Given the description of an element on the screen output the (x, y) to click on. 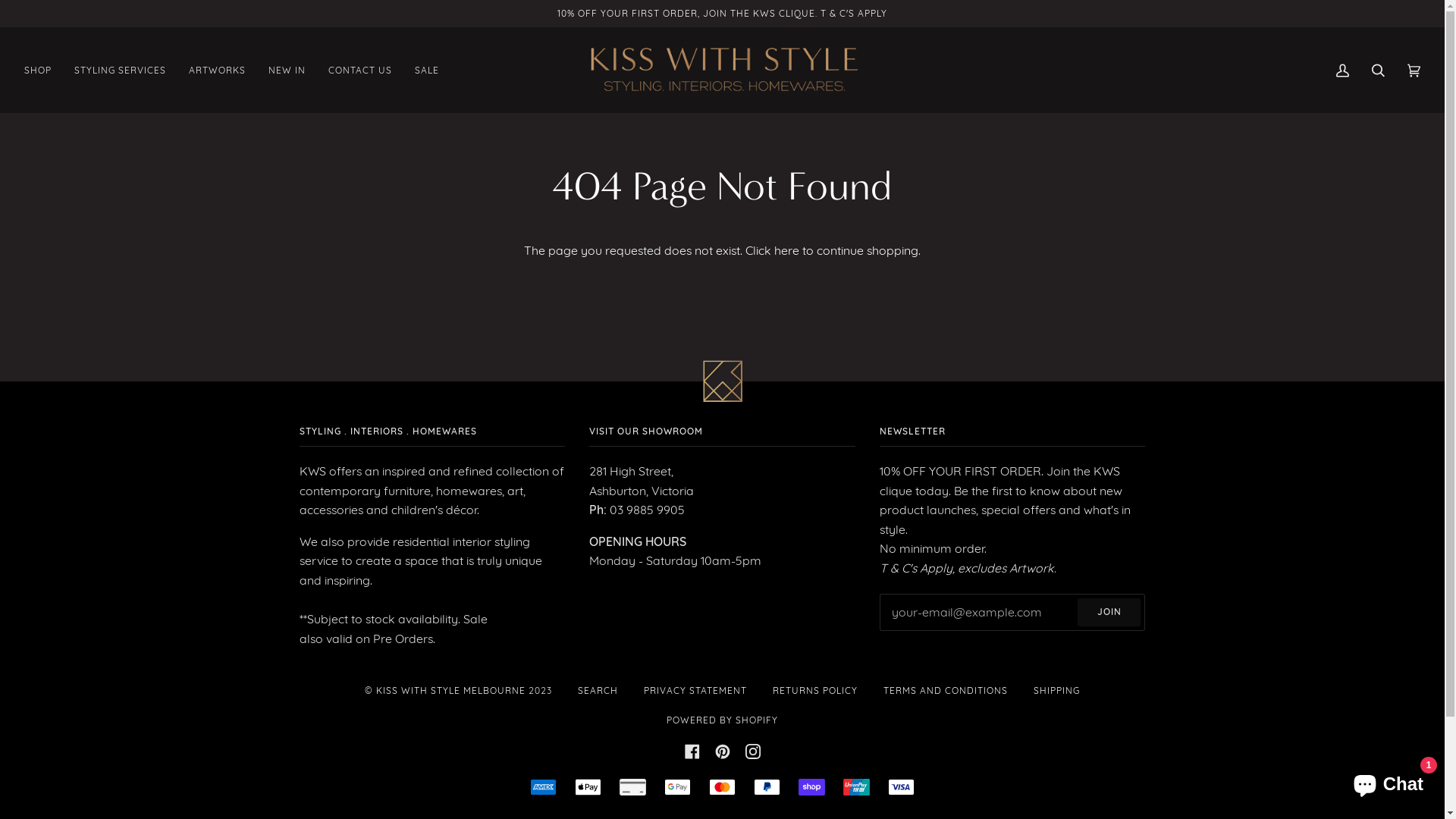
SEARCH Element type: text (597, 690)
SHOP Element type: text (37, 69)
TERMS AND CONDITIONS Element type: text (945, 690)
RETURNS POLICY Element type: text (814, 690)
FACEBOOK Element type: text (691, 750)
SALE Element type: text (426, 69)
My Account Element type: text (1342, 69)
NEW IN Element type: text (286, 69)
PINTEREST Element type: text (721, 750)
KISS WITH STYLE MELBOURNE Element type: text (450, 690)
CONTACT US Element type: text (359, 69)
INSTAGRAM Element type: text (751, 750)
here Element type: text (786, 249)
Search Element type: text (1378, 69)
Shopify online store chat Element type: hover (1388, 780)
Cart
(0) Element type: text (1413, 69)
STYLING SERVICES Element type: text (119, 69)
POWERED BY SHOPIFY Element type: text (722, 719)
PRIVACY STATEMENT Element type: text (694, 690)
JOIN Element type: text (1108, 612)
ARTWORKS Element type: text (217, 69)
SHIPPING Element type: text (1056, 690)
